Given the description of an element on the screen output the (x, y) to click on. 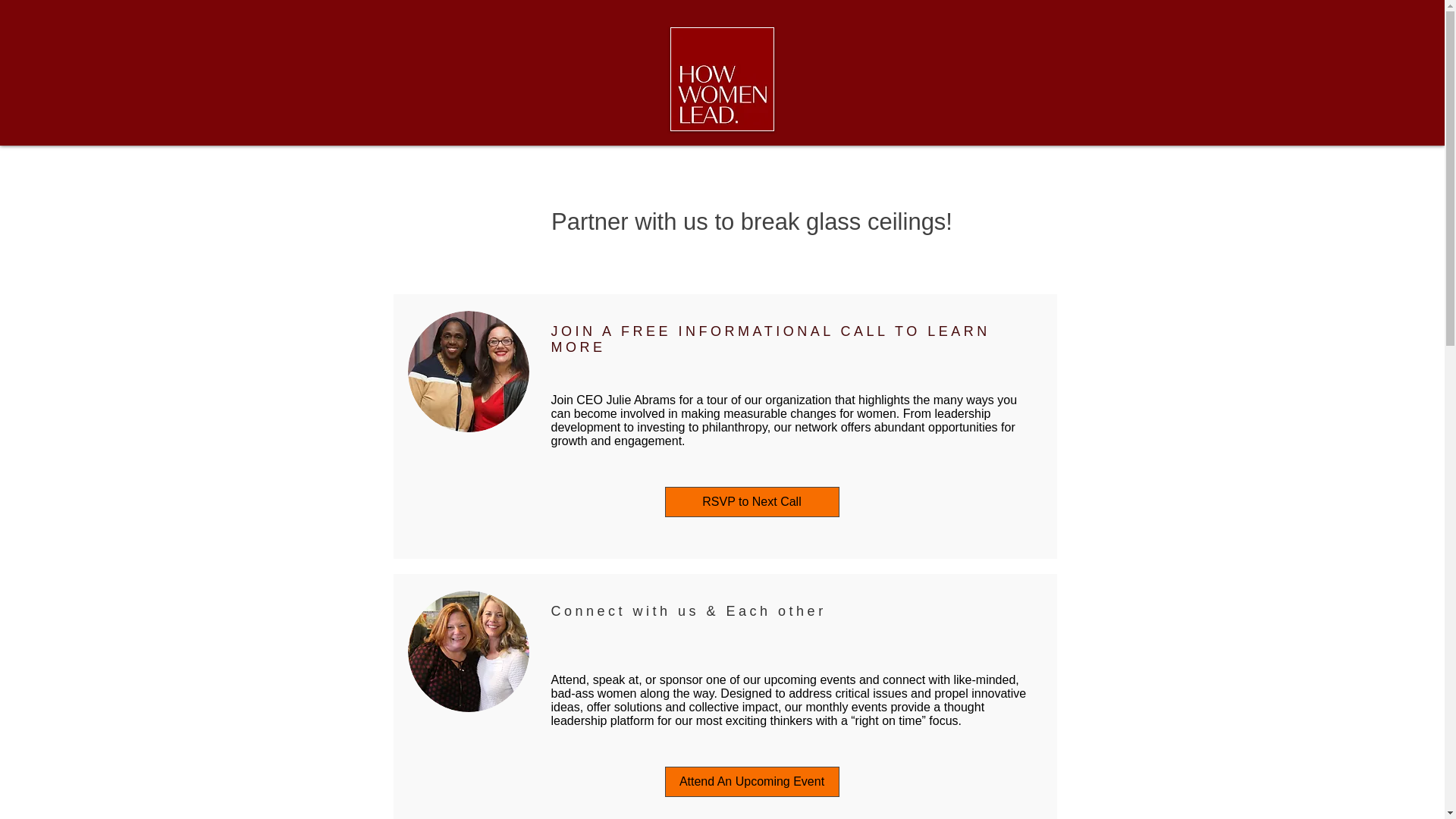
RSVP to Next Call (750, 501)
Attend An Upcoming Event (750, 781)
Upcoming Events (774, 614)
